Given the description of an element on the screen output the (x, y) to click on. 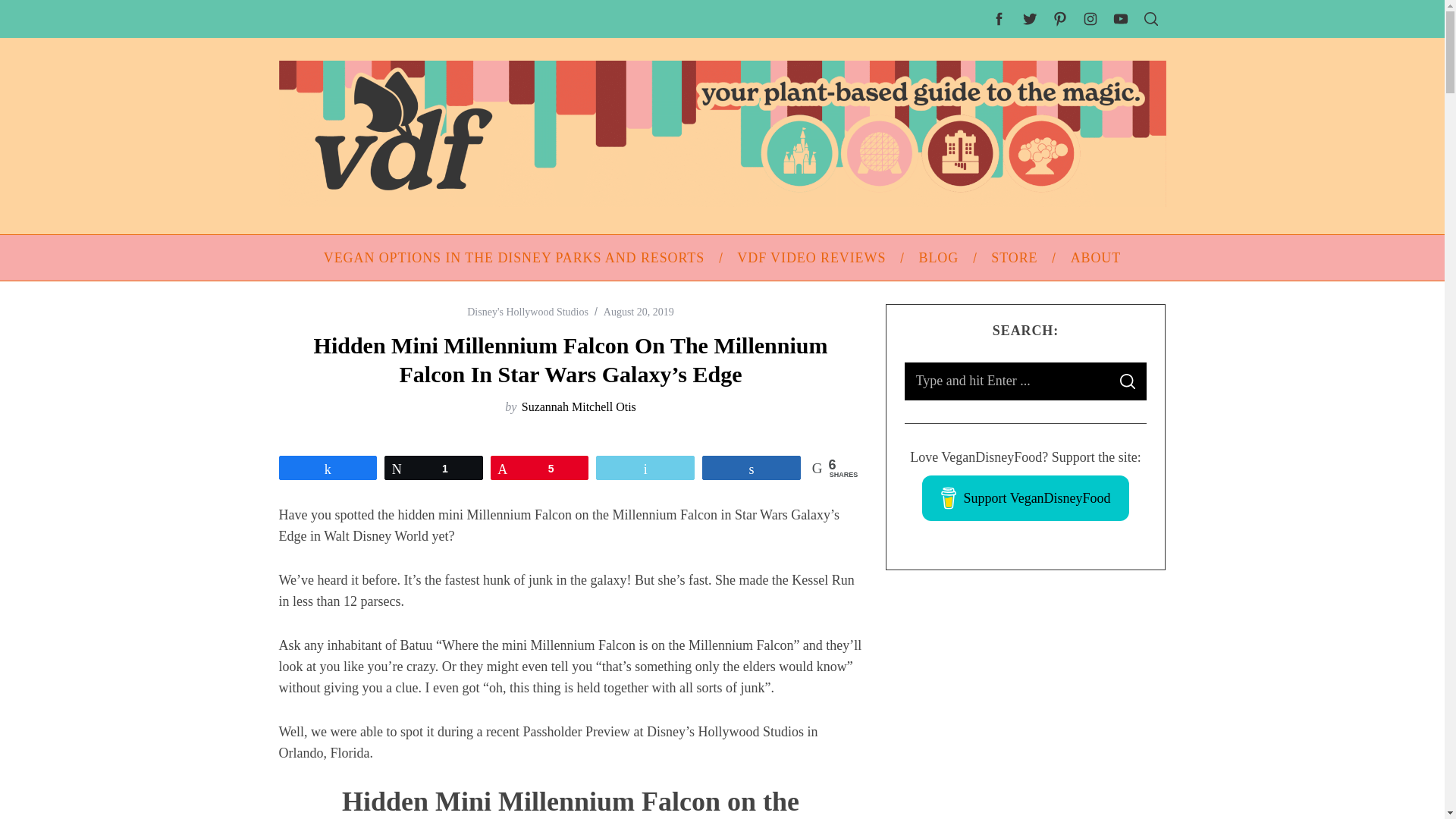
STORE (1014, 257)
ABOUT (1095, 257)
BLOG (938, 257)
5 (540, 467)
VDF VIDEO REVIEWS (811, 257)
1 (433, 467)
